Given the description of an element on the screen output the (x, y) to click on. 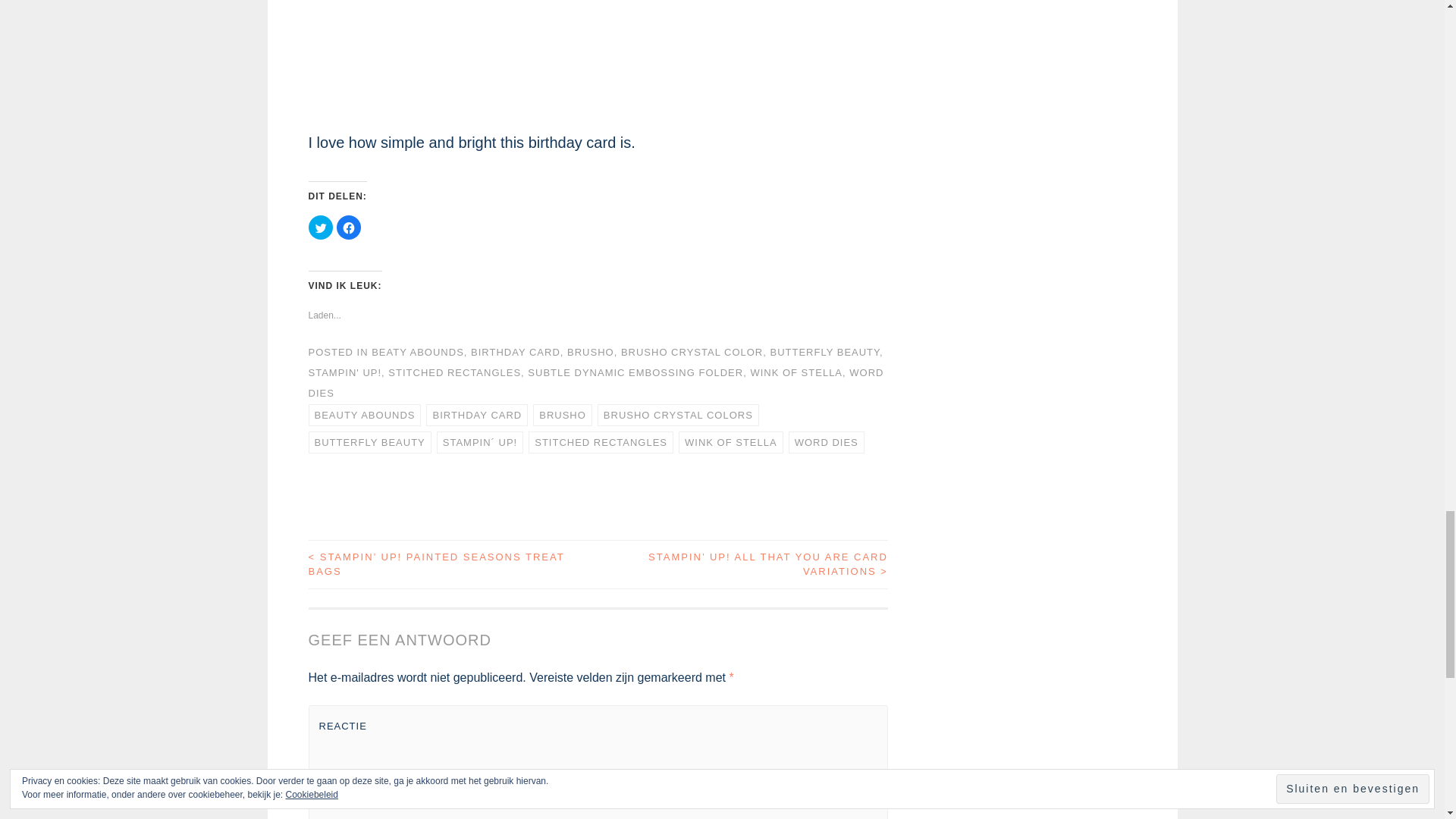
BRUSHO CRYSTAL COLOR (691, 351)
Klik om te delen op Facebook (348, 227)
BRUSHO (590, 351)
WORD DIES (826, 442)
STITCHED RECTANGLES (454, 372)
BUTTERFLY BEAUTY (824, 351)
SUBTLE DYNAMIC EMBOSSING FOLDER (634, 372)
Klik om te delen met Twitter (319, 227)
BUTTERFLY BEAUTY (368, 442)
BRUSHO (562, 414)
BEAUTY ABOUNDS (363, 414)
STAMPIN' UP! (344, 372)
STITCHED RECTANGLES (600, 442)
BRUSHO CRYSTAL COLORS (677, 414)
WINK OF STELLA (730, 442)
